Given the description of an element on the screen output the (x, y) to click on. 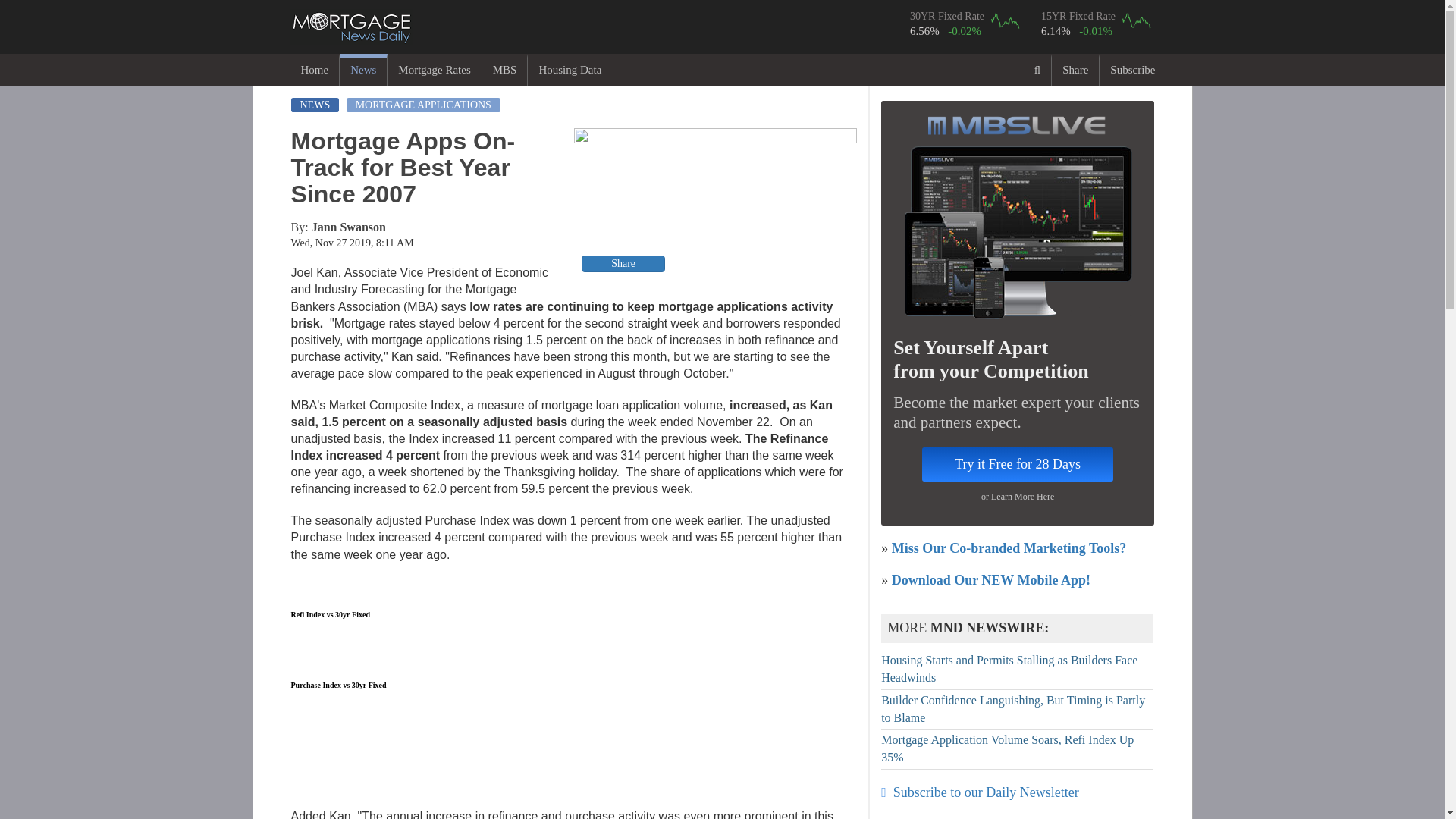
Preview (715, 201)
Mortgage Rates (434, 69)
News (363, 69)
Home (314, 69)
